Given the description of an element on the screen output the (x, y) to click on. 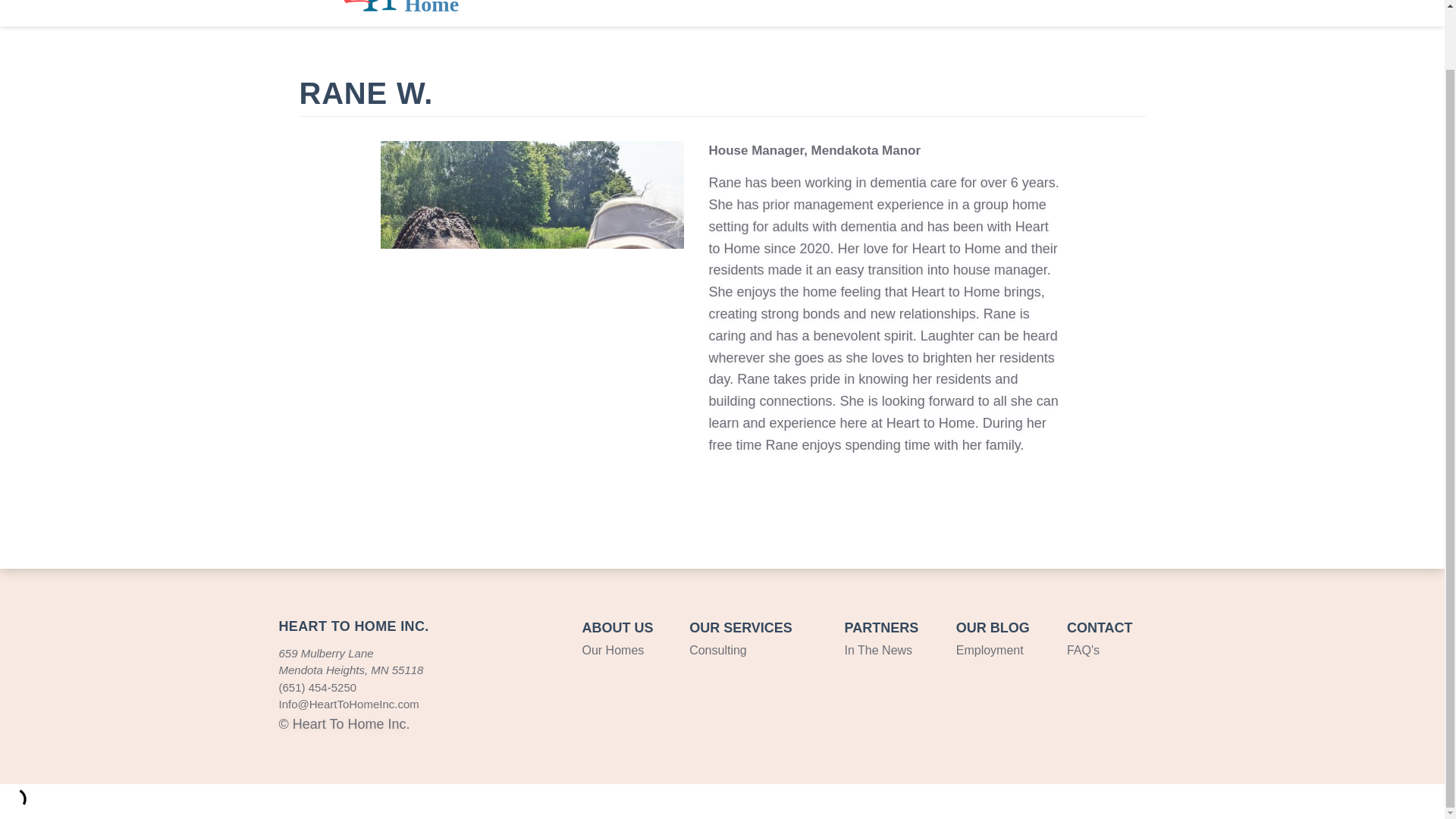
OUR SERVICES (740, 627)
Our Homes (613, 649)
In The News (878, 649)
OUR BLOG (992, 627)
Homepage (389, 8)
FAQ's (1083, 649)
Contact (1127, 13)
Our Homes (737, 13)
ABOUT US (617, 627)
Our Services (844, 13)
Employment (989, 649)
Employment (951, 13)
About Us (636, 13)
Consulting (717, 649)
Our Blog (1047, 13)
